Given the description of an element on the screen output the (x, y) to click on. 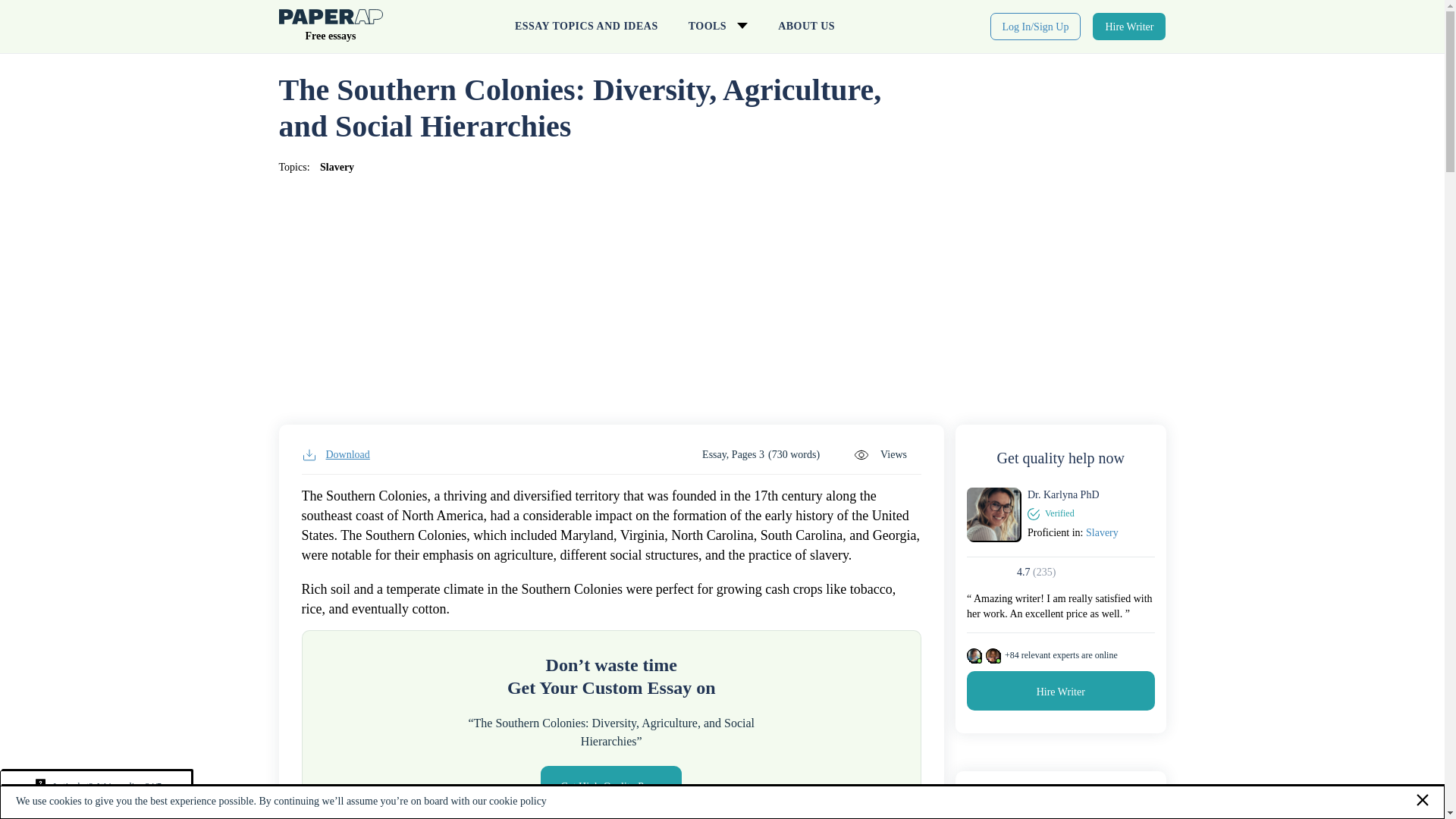
ESSAY TOPICS AND IDEAS (585, 26)
Slavery (1102, 532)
Free essays (330, 29)
Hire Writer (1060, 690)
ABOUT US (806, 26)
Hire Writer (1129, 26)
TOOLS (717, 26)
Download (335, 454)
Get High-Quality Paper (610, 785)
Slavery (336, 166)
